Given the description of an element on the screen output the (x, y) to click on. 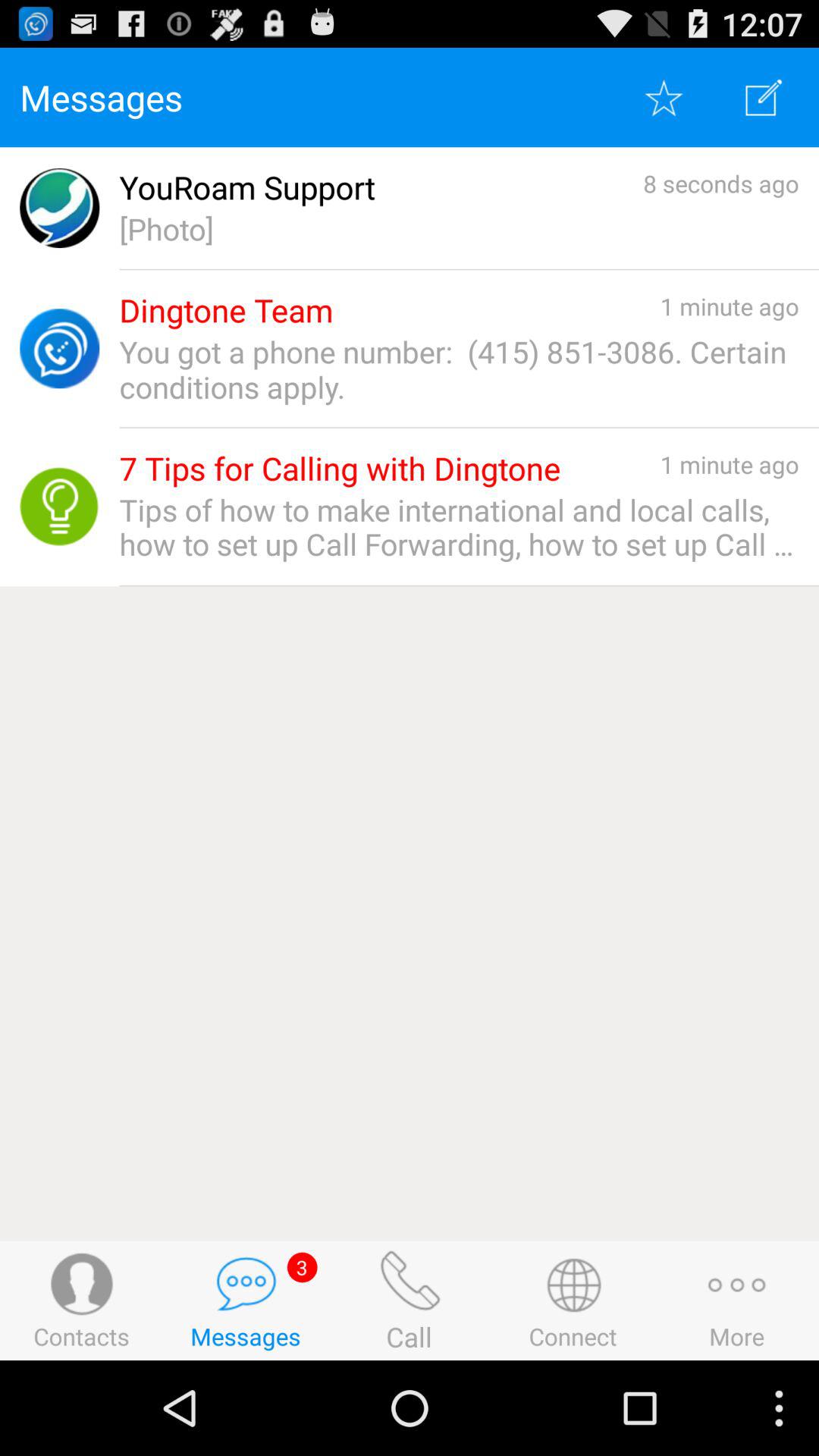
click favorite (663, 97)
